Given the description of an element on the screen output the (x, y) to click on. 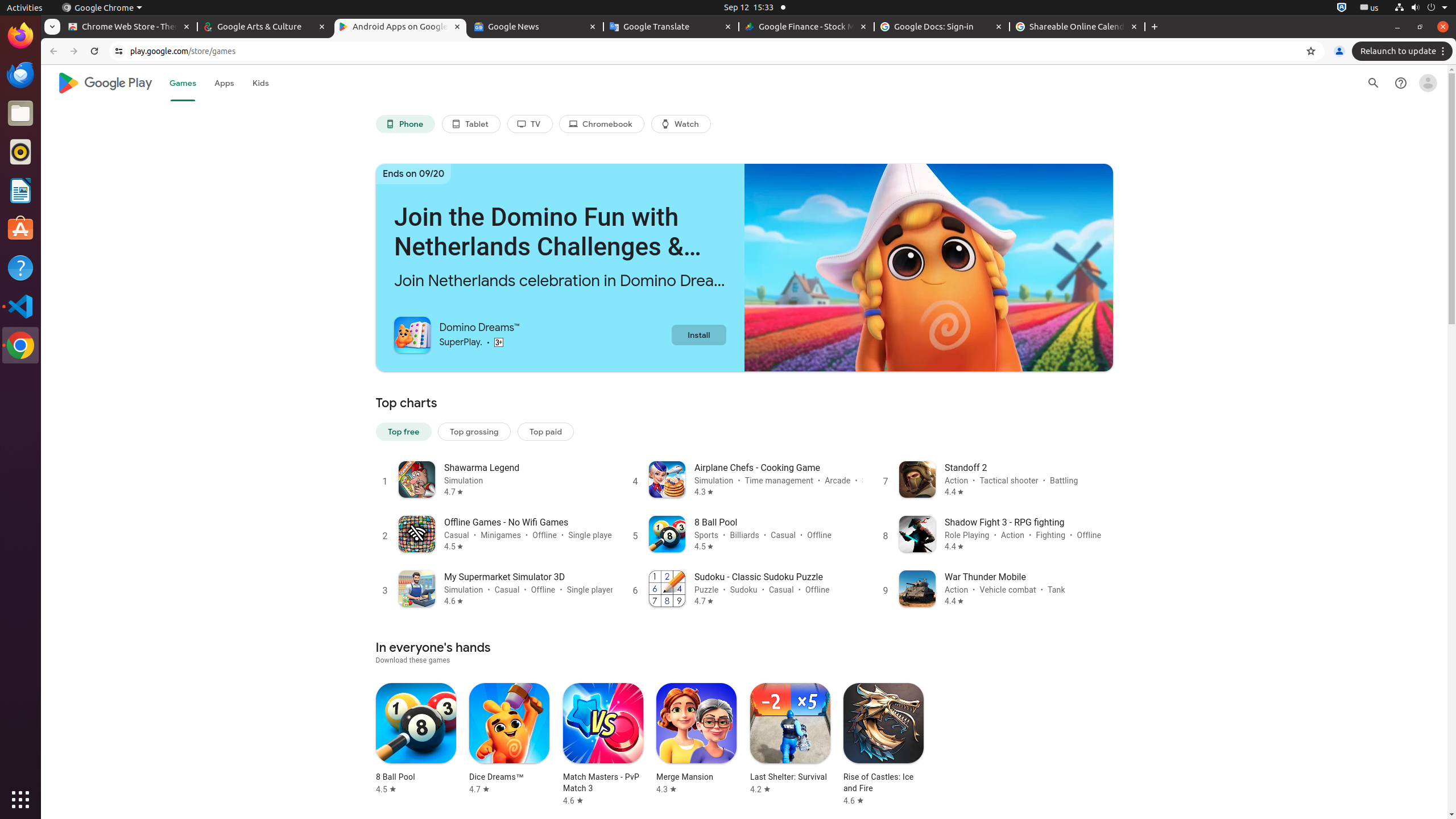
Kids Element type: page-tab (260, 82)
Top grossing Element type: toggle-button (473, 431)
Merge Mansion Rated 4.3 stars out of five stars Element type: link (696, 738)
Rhythmbox Element type: push-button (20, 151)
Search Element type: push-button (1373, 82)
